Given the description of an element on the screen output the (x, y) to click on. 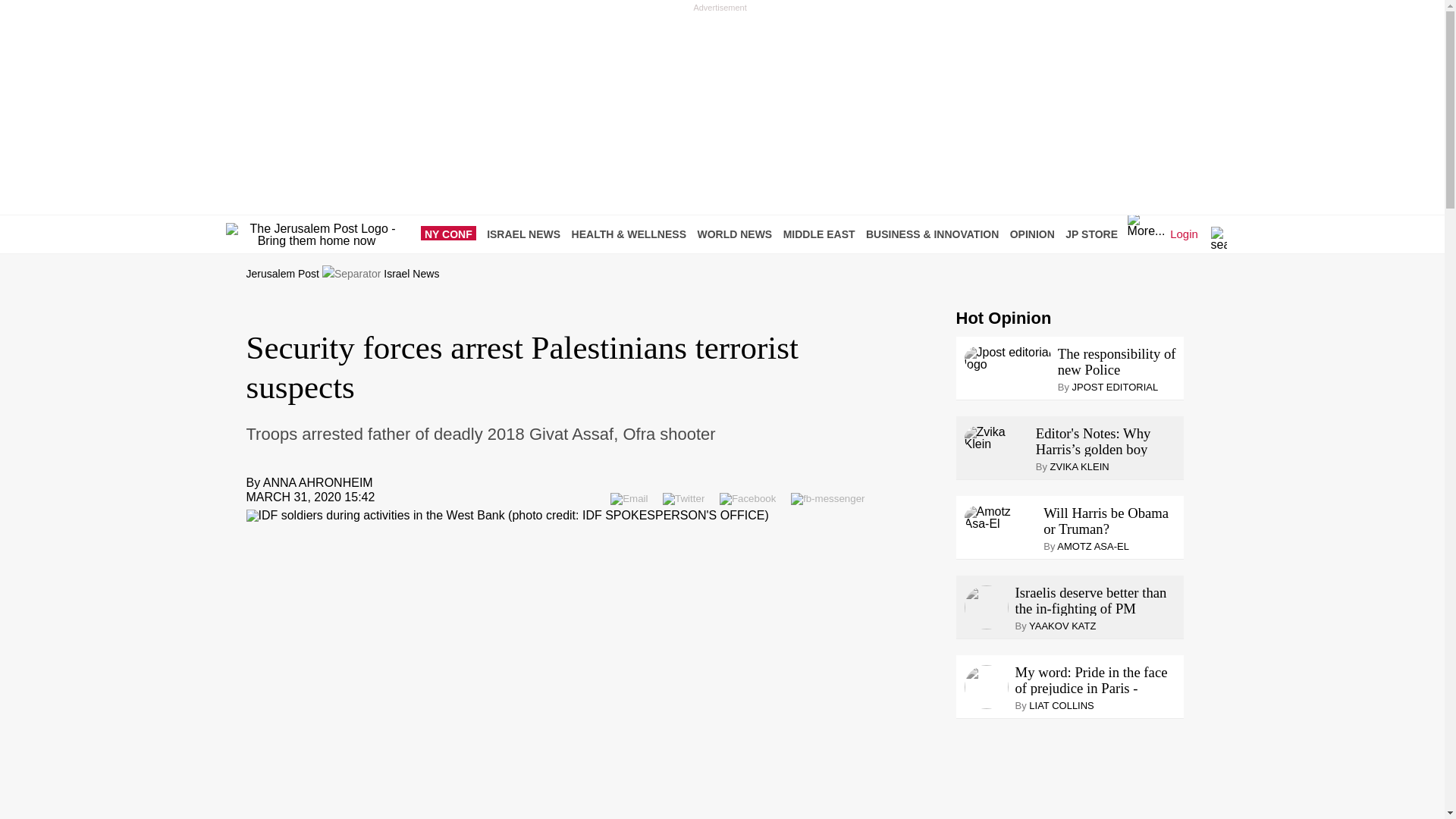
Jerusalem Post (282, 273)
JP STORE (1095, 234)
JPOST EDITORIAL (1114, 387)
WORLD NEWS (737, 234)
Jerusalem Post (282, 273)
Jpost editorial logo  (1007, 358)
ANNA AHRONHEIM (317, 481)
ISRAEL NEWS (526, 234)
